Given the description of an element on the screen output the (x, y) to click on. 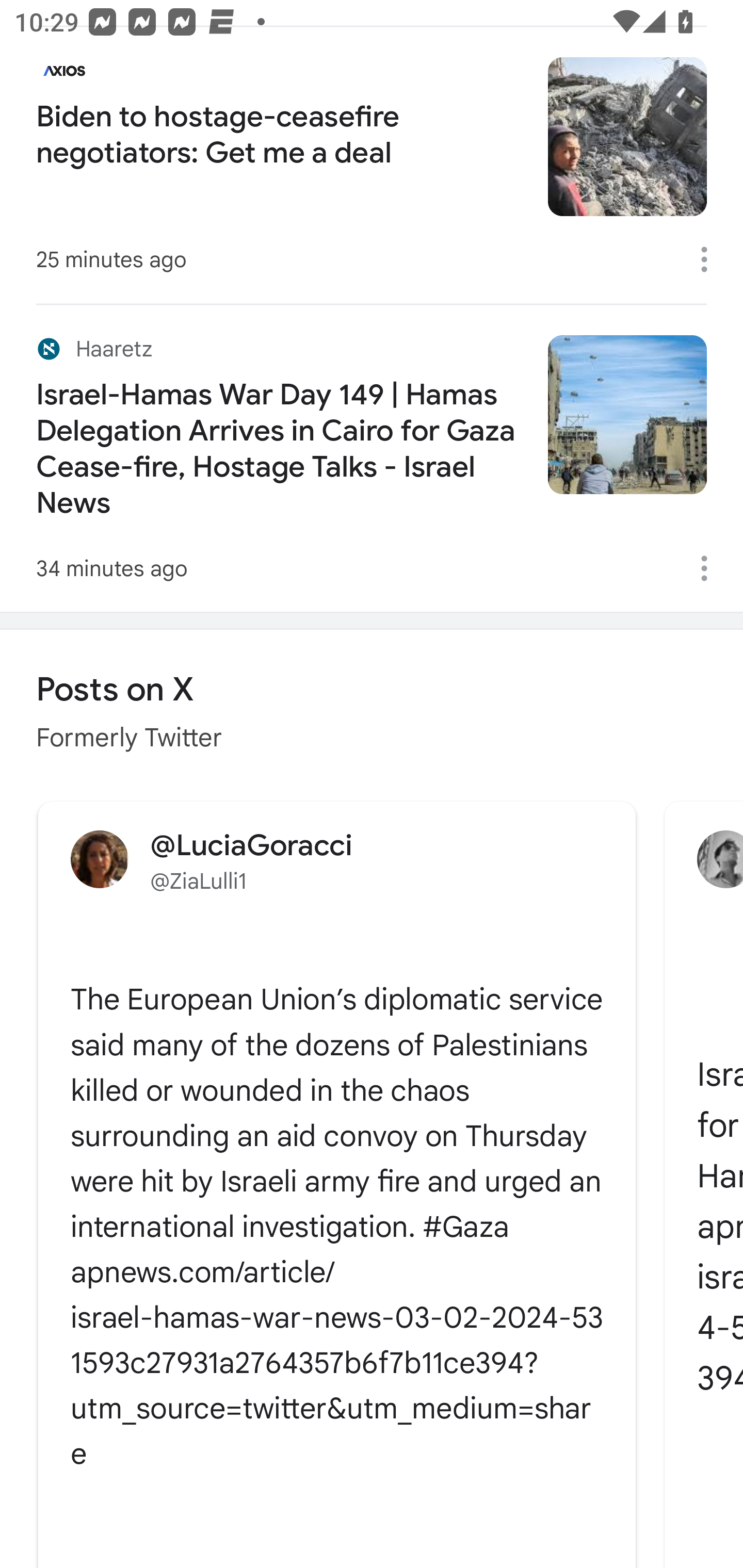
More options (711, 259)
More options (711, 568)
